Given the description of an element on the screen output the (x, y) to click on. 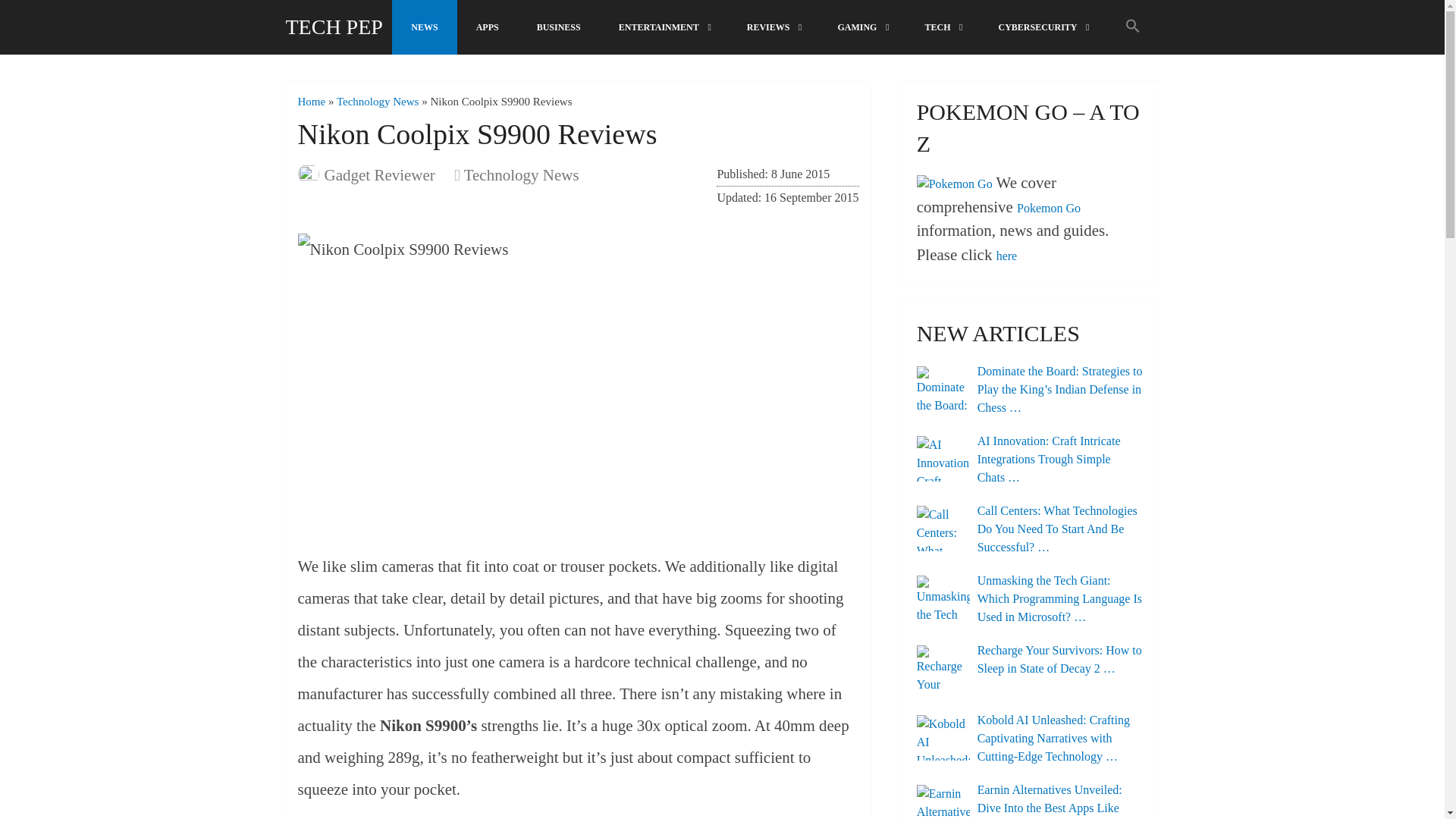
BUSINESS (558, 27)
TECH (941, 27)
APPS (487, 27)
Gadget Reviewer (379, 175)
Home (310, 101)
View all posts in Technology News (521, 175)
Technology News (521, 175)
REVIEWS (773, 27)
